Given the description of an element on the screen output the (x, y) to click on. 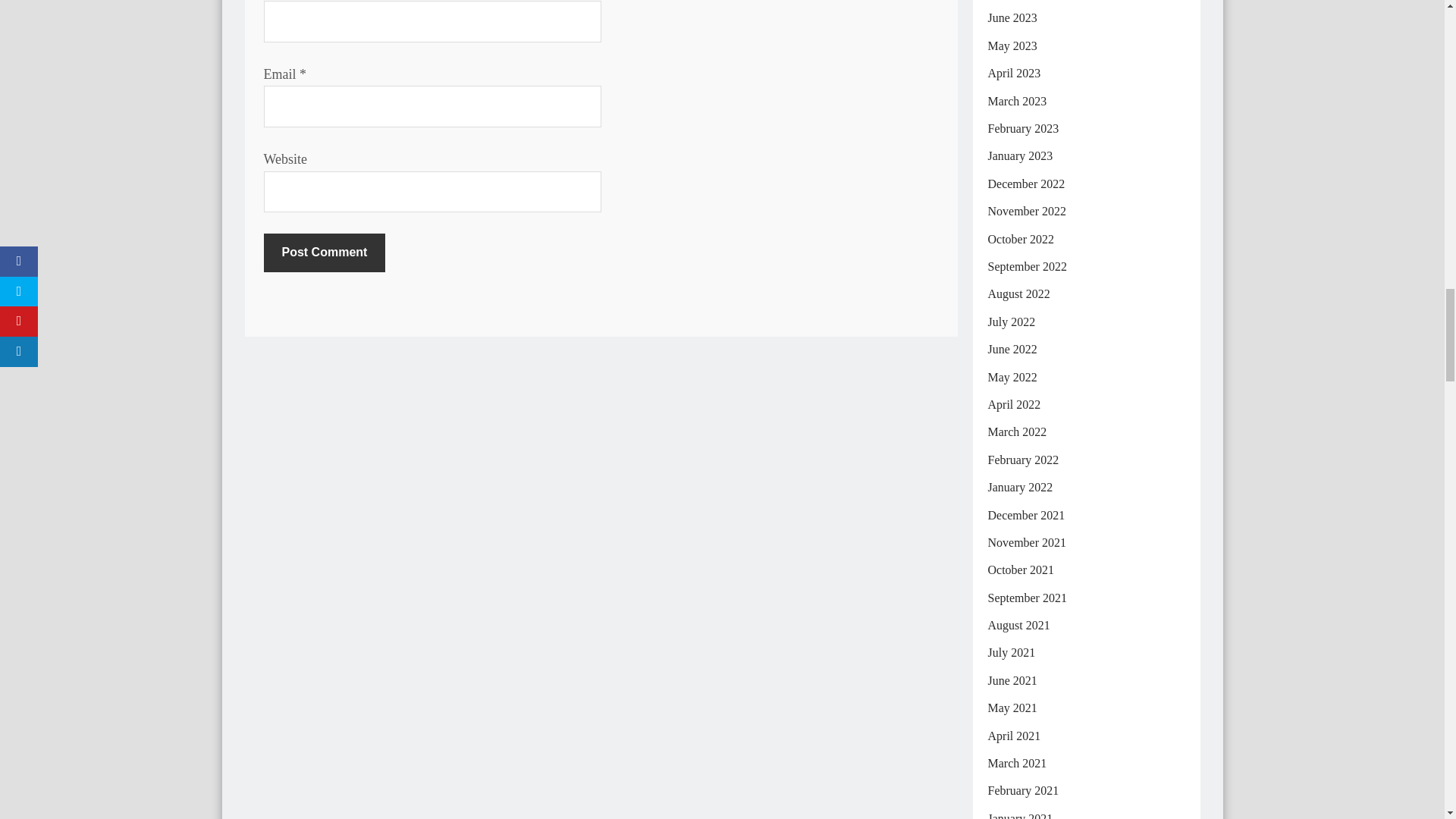
Post Comment (324, 252)
